Given the description of an element on the screen output the (x, y) to click on. 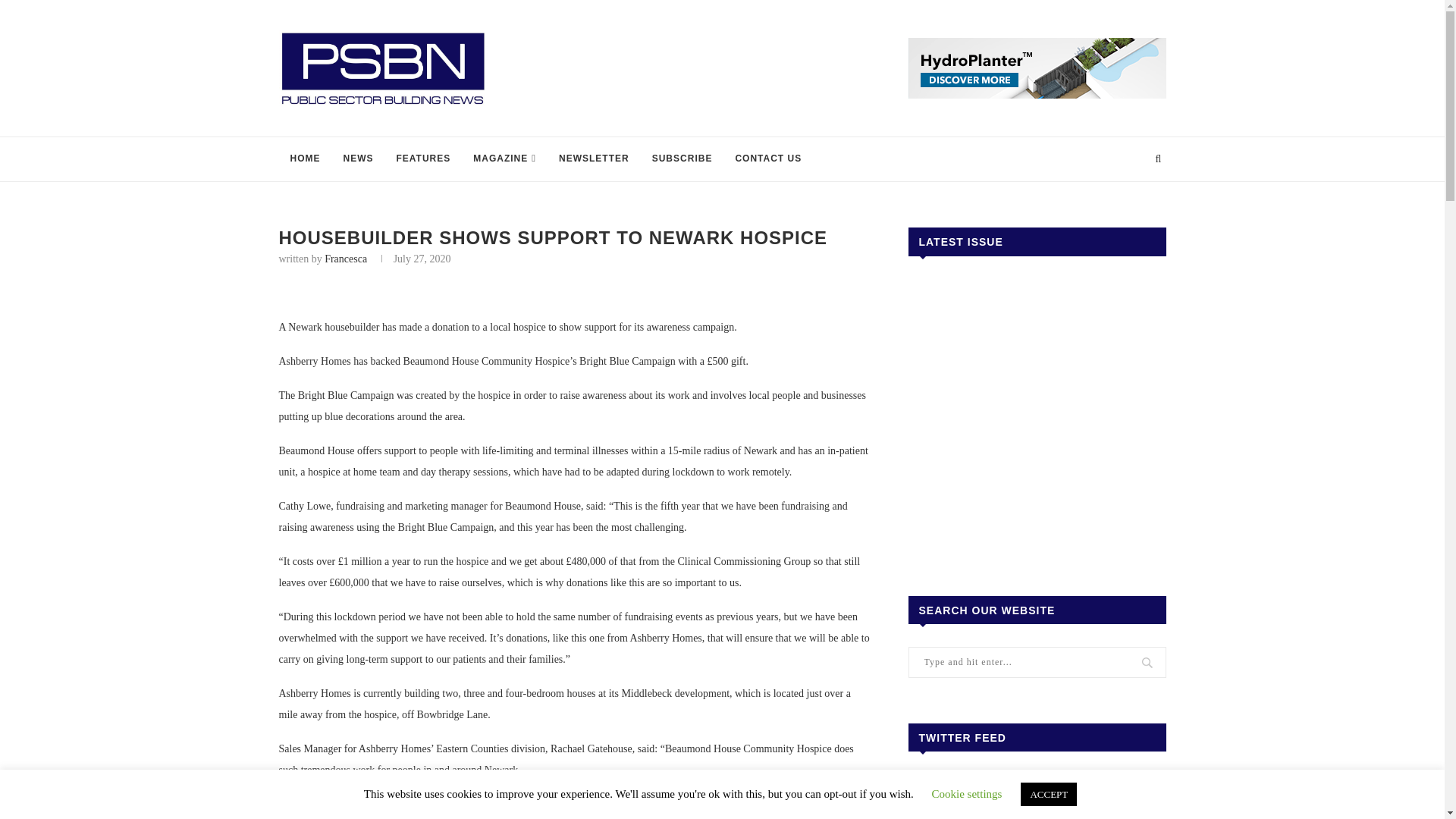
NEWSLETTER (593, 158)
SUBSCRIBE (681, 158)
FEATURES (424, 158)
HOME (305, 158)
NEWS (358, 158)
MAGAZINE (504, 158)
Francesca (345, 258)
CONTACT US (767, 158)
